Given the description of an element on the screen output the (x, y) to click on. 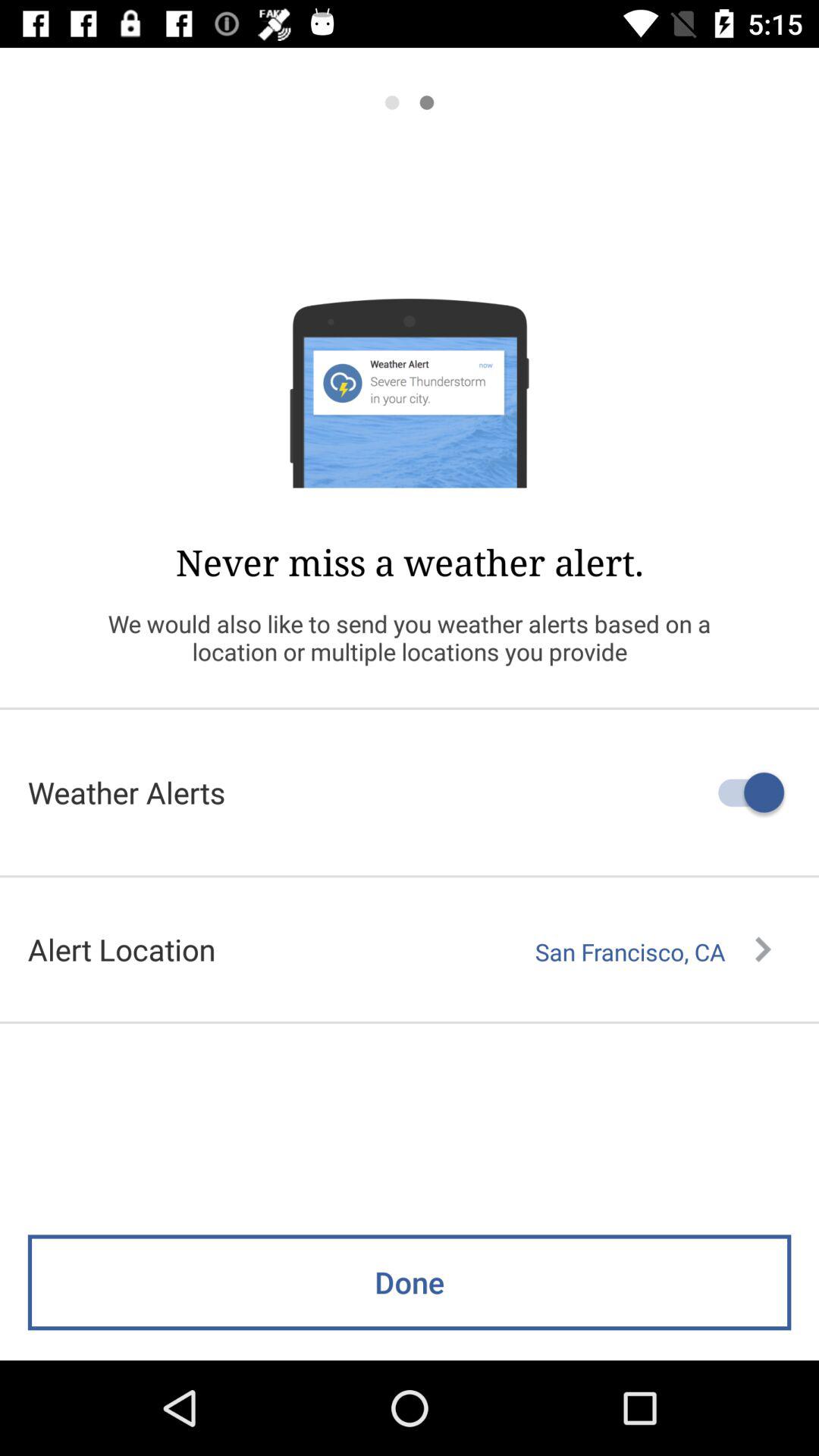
press the san francisco, ca (653, 951)
